Given the description of an element on the screen output the (x, y) to click on. 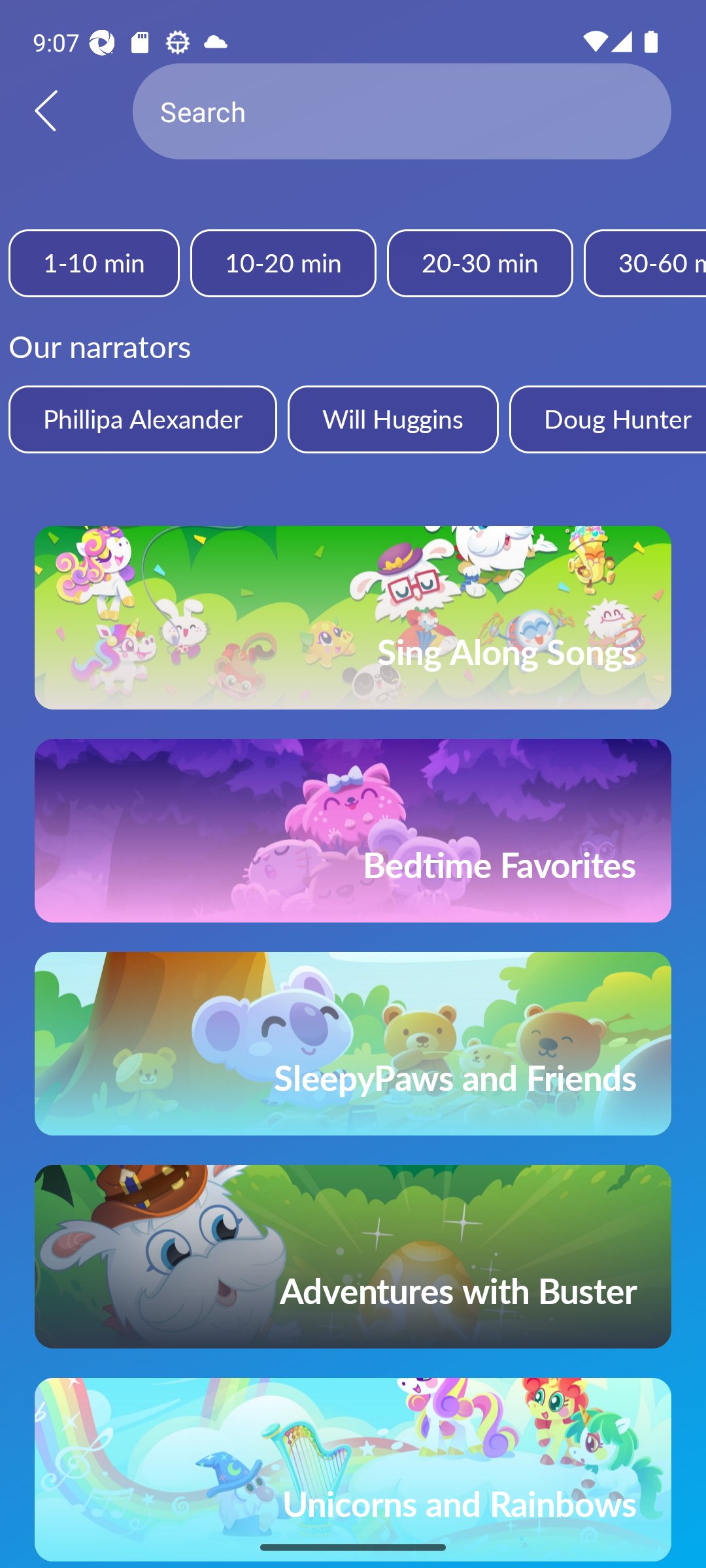
Search (401, 110)
1-10 min (94, 262)
10-20 min (282, 262)
20-30 min (479, 262)
30-60 min (644, 262)
Phillipa Alexander (142, 419)
Will Huggins (392, 419)
Doug Hunter (607, 419)
Sing Along Songs (352, 616)
Bedtime Favorites (352, 829)
SleepyPaws and Friends (352, 1043)
Adventures with Buster (352, 1256)
Unicorns and Rainbows (352, 1469)
